Given the description of an element on the screen output the (x, y) to click on. 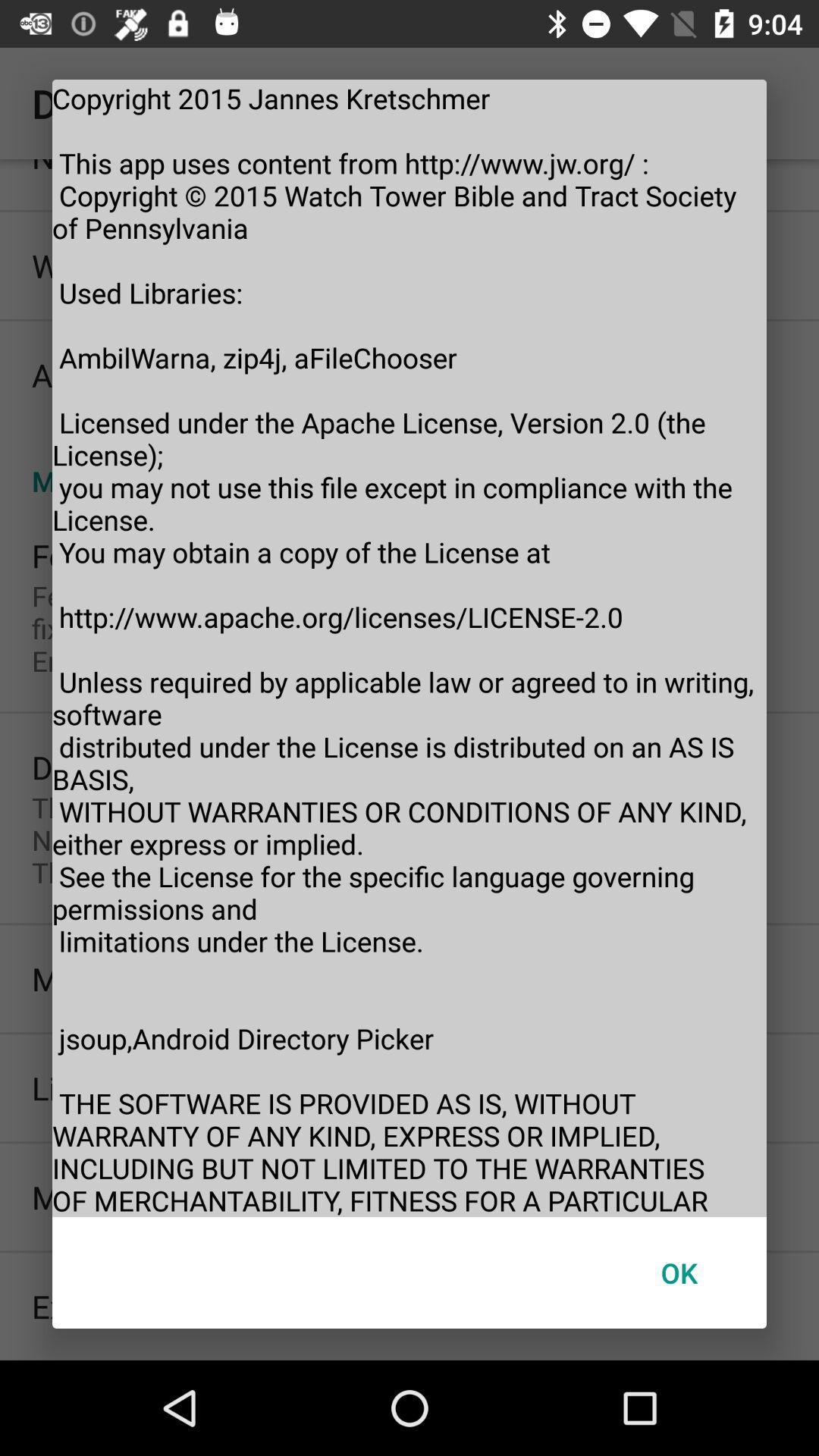
select the ok item (678, 1272)
